Given the description of an element on the screen output the (x, y) to click on. 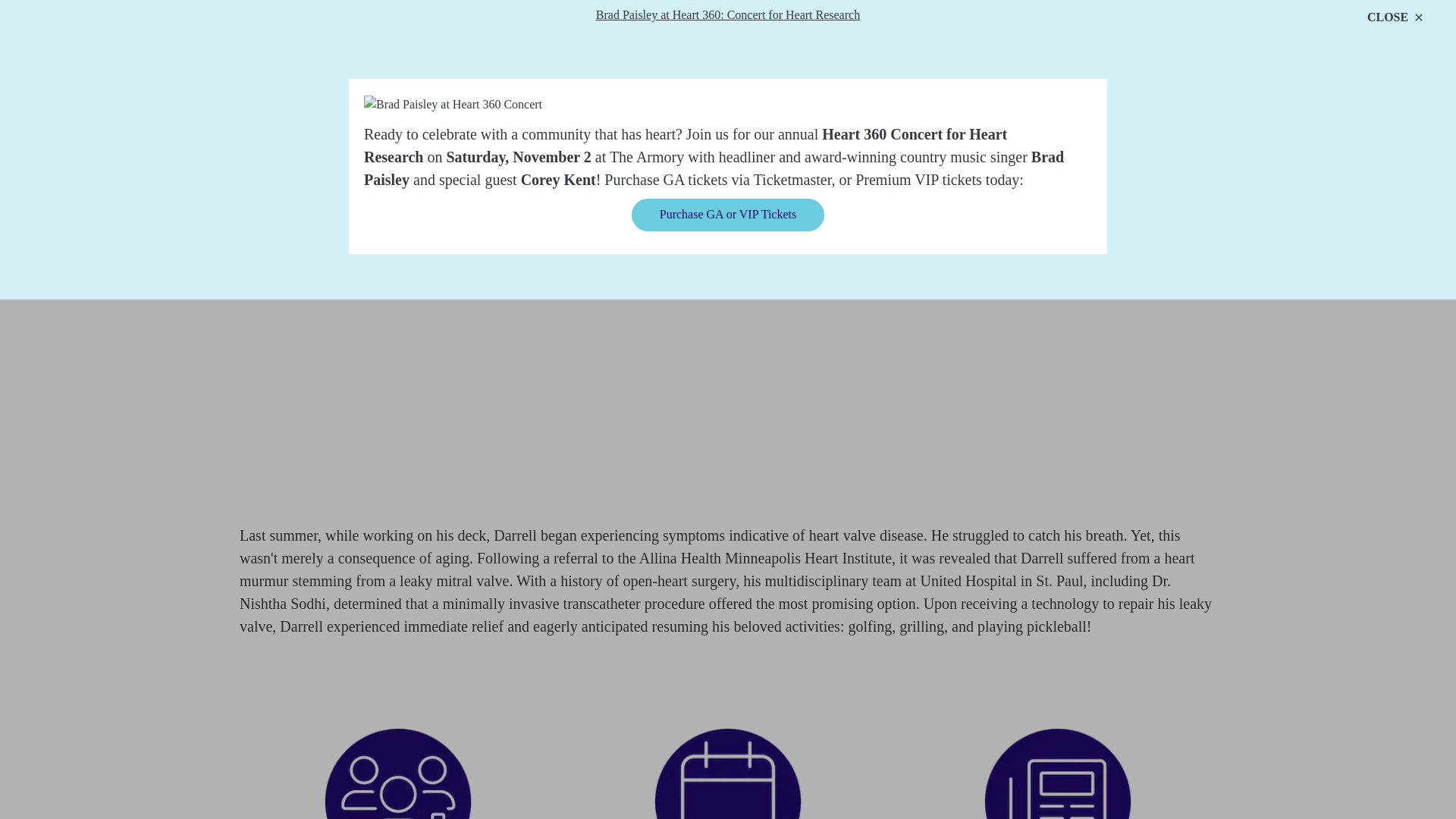
Patient Stories (397, 773)
Events (727, 773)
Donate (1141, 74)
Search (1204, 74)
Image (727, 773)
Image (1057, 773)
Home (312, 75)
Image (397, 773)
YouTube video player (727, 396)
